Given the description of an element on the screen output the (x, y) to click on. 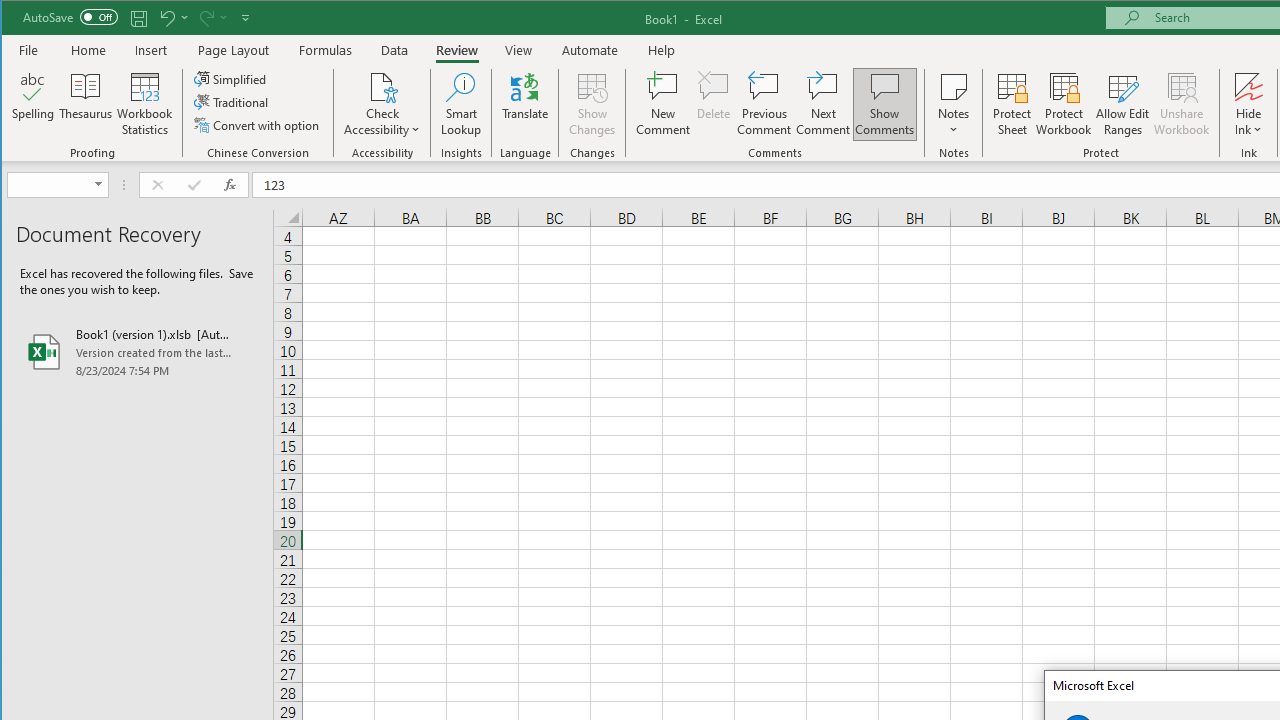
Redo (205, 17)
View (518, 50)
Review (456, 50)
Smart Lookup (461, 104)
New Comment (662, 104)
Name Box (57, 184)
Quick Access Toolbar (137, 17)
Undo (172, 17)
Formulas (326, 50)
System (19, 18)
Help (661, 50)
Hide Ink (1248, 104)
Traditional (232, 101)
Spelling... (33, 104)
